Given the description of an element on the screen output the (x, y) to click on. 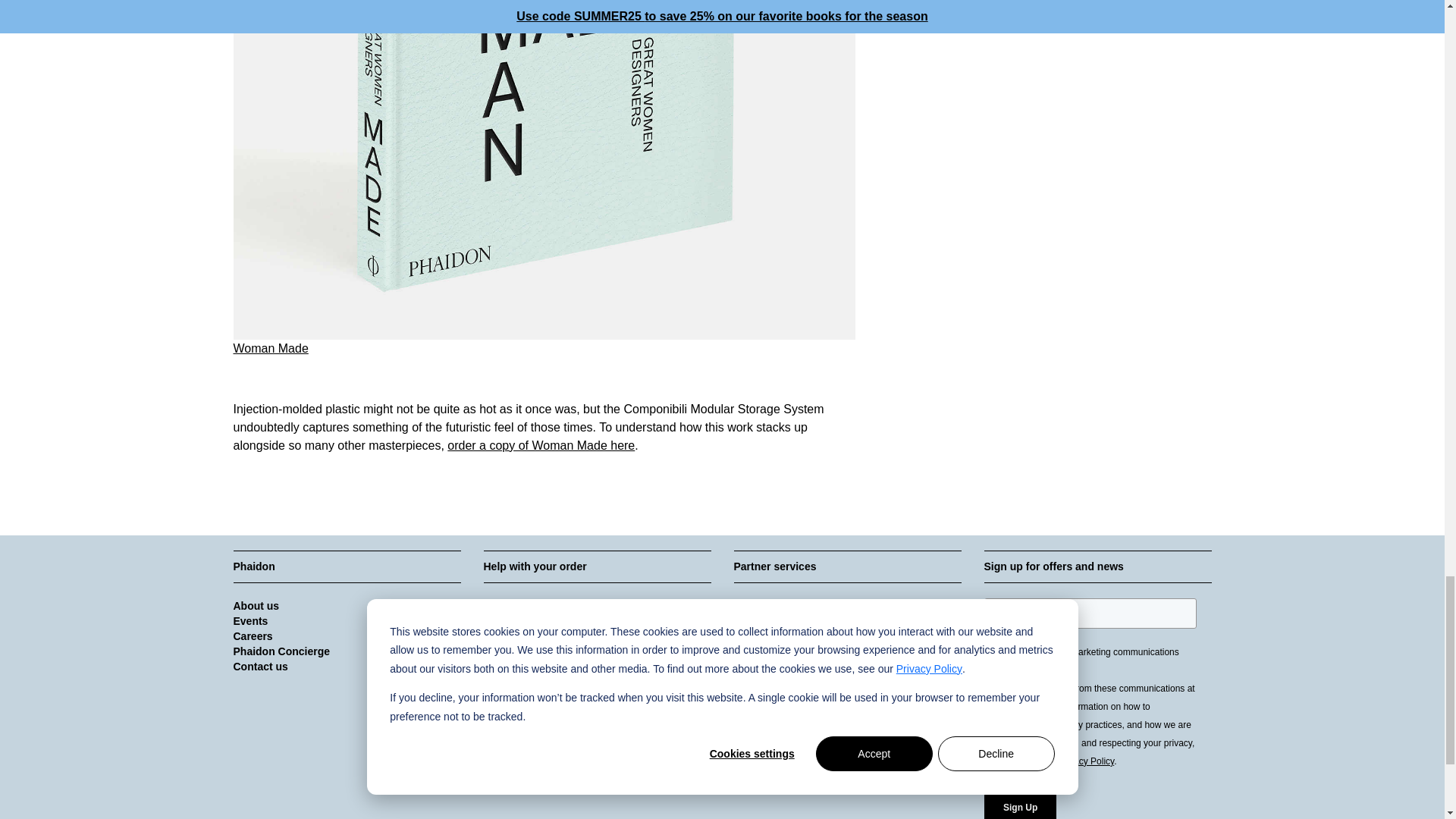
Embedded CTA (1097, 708)
